Given the description of an element on the screen output the (x, y) to click on. 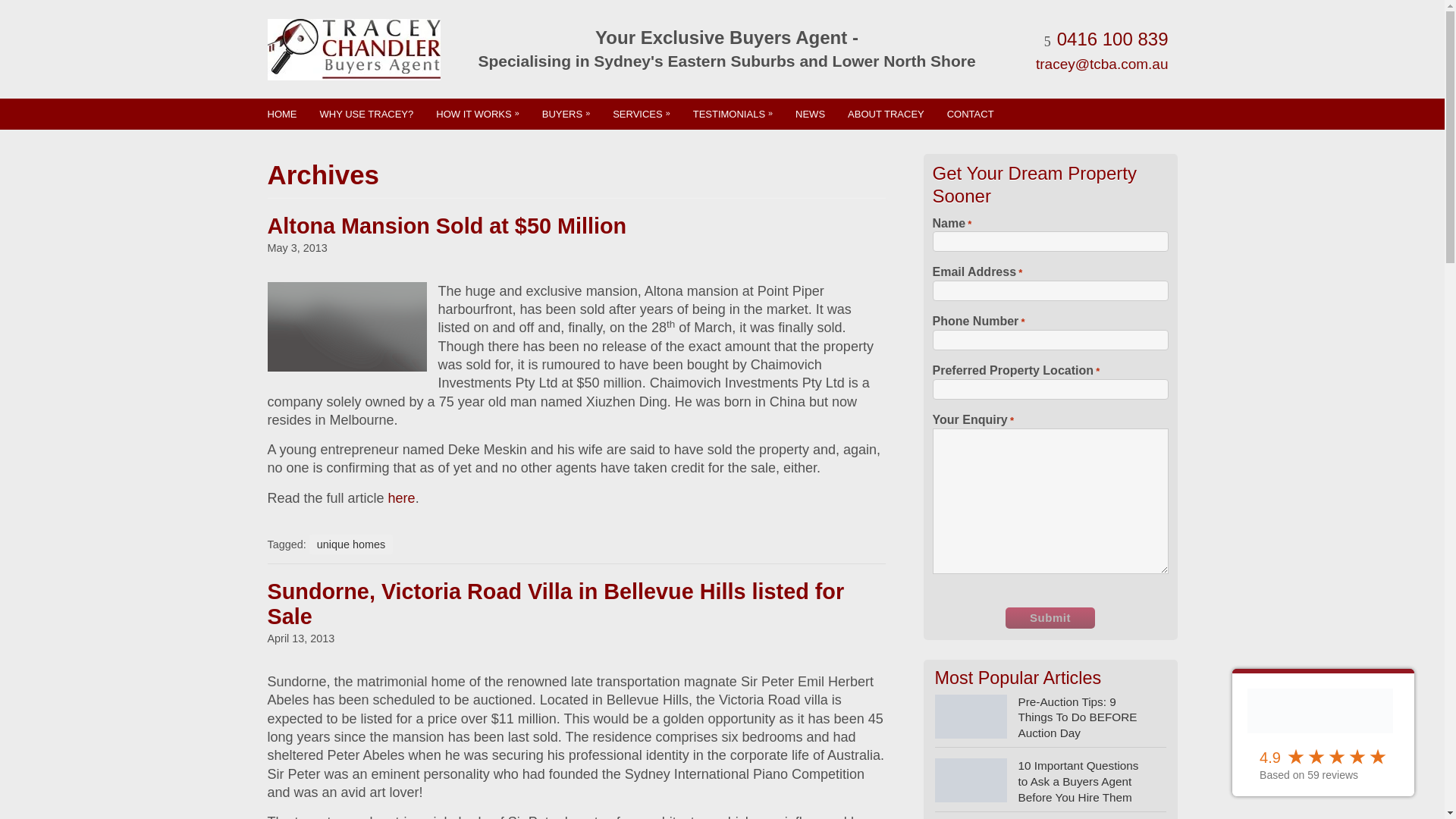
unique homes (350, 544)
SERVICES (641, 113)
here (401, 498)
WHY USE TRACEY? (366, 113)
NEWS (809, 113)
HOME (282, 113)
BUYERS (566, 113)
ABOUT TRACEY (885, 113)
HOW IT WORKS (477, 113)
